Given the description of an element on the screen output the (x, y) to click on. 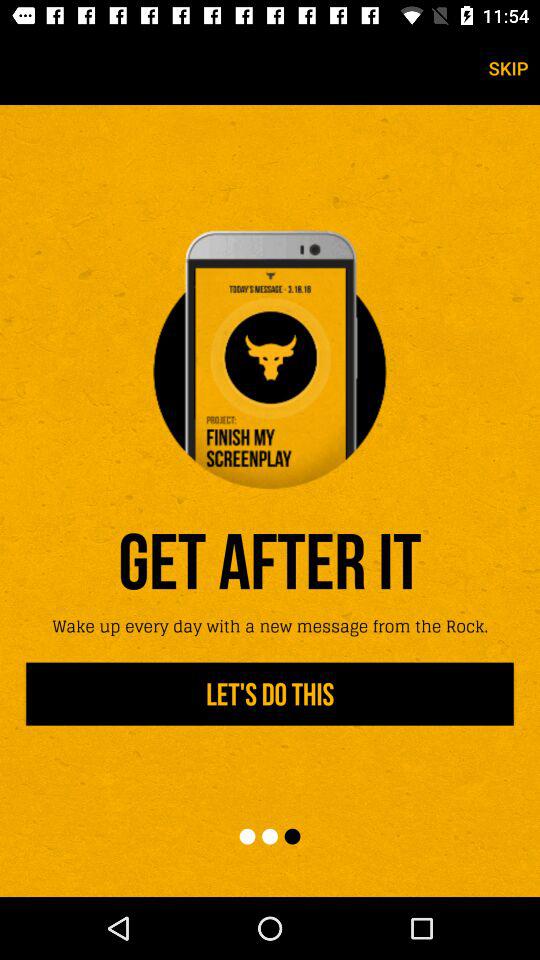
select the item at the top right corner (508, 67)
